Given the description of an element on the screen output the (x, y) to click on. 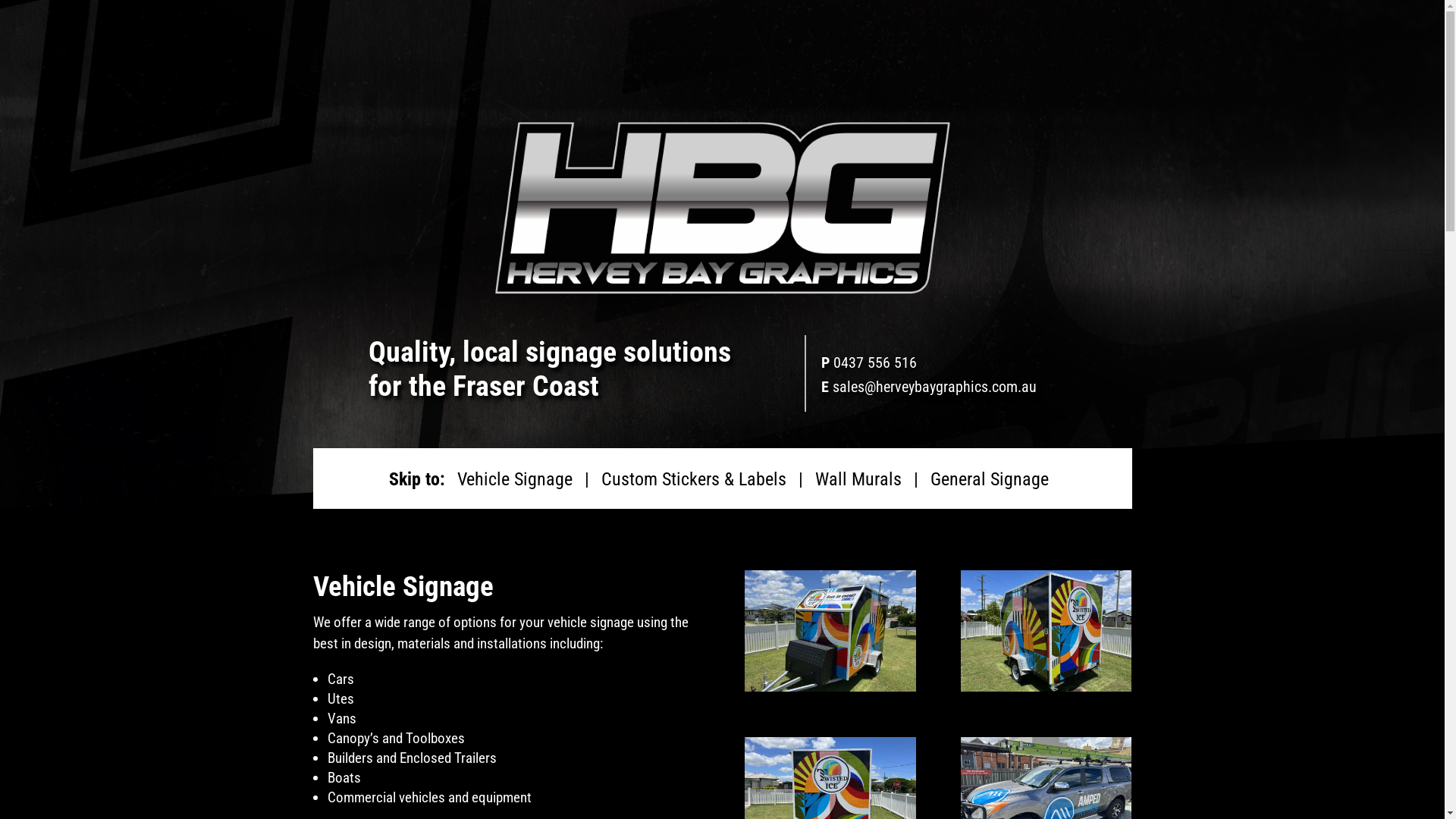
sales@herveybaygraphics.com.au Element type: text (934, 386)
Wall Murals Element type: text (857, 478)
Custom Stickers & Labels Element type: text (692, 478)
IMG_0420 Element type: hover (1045, 686)
IMG_0418 Element type: hover (829, 686)
logo Element type: hover (721, 207)
General Signage Element type: text (988, 478)
Vehicle Signage Element type: text (513, 478)
